Given the description of an element on the screen output the (x, y) to click on. 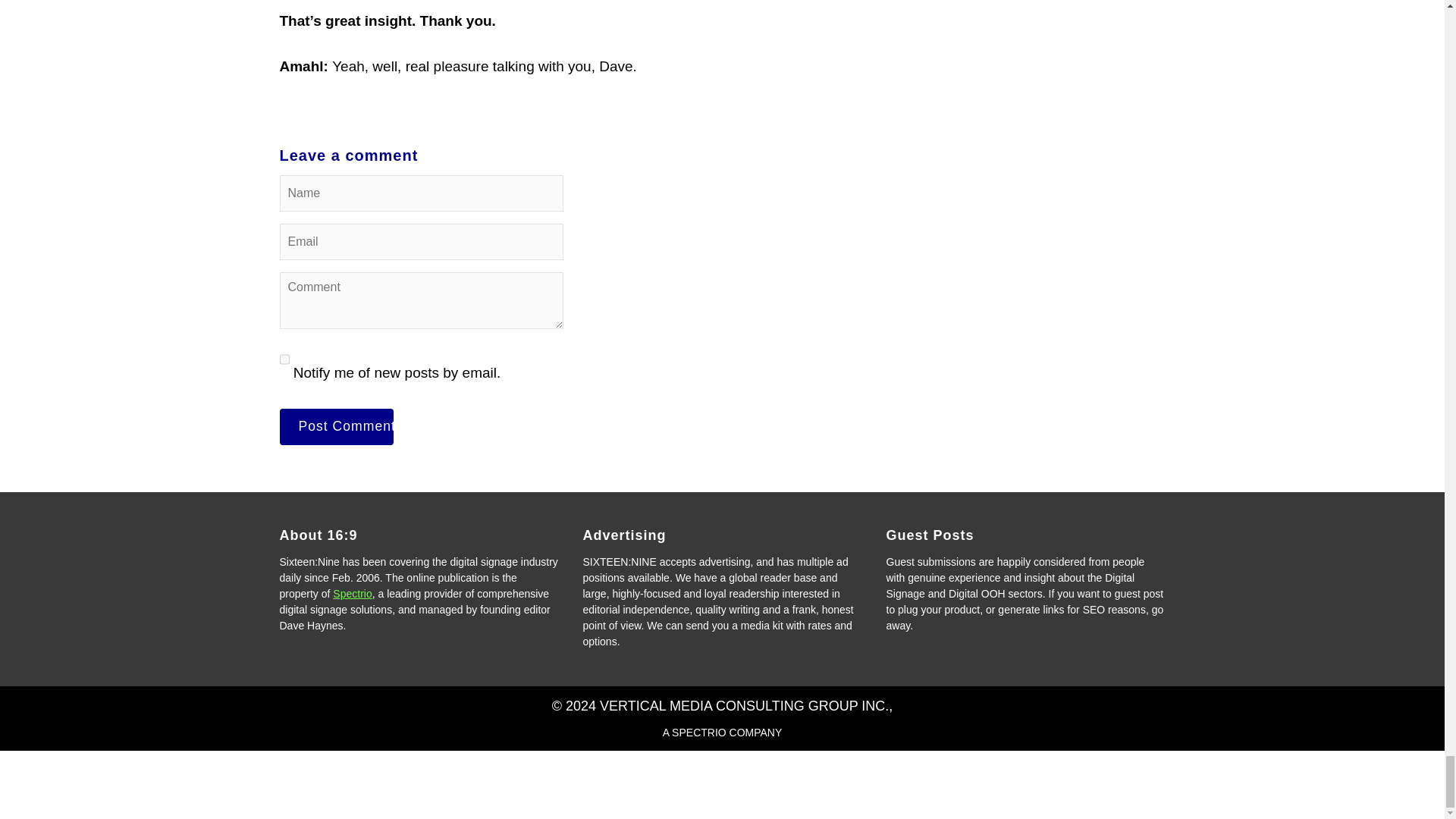
Post Comment (336, 426)
A SPECTRIO COMPANY (721, 732)
Post Comment (336, 426)
Spectrio (352, 593)
